Given the description of an element on the screen output the (x, y) to click on. 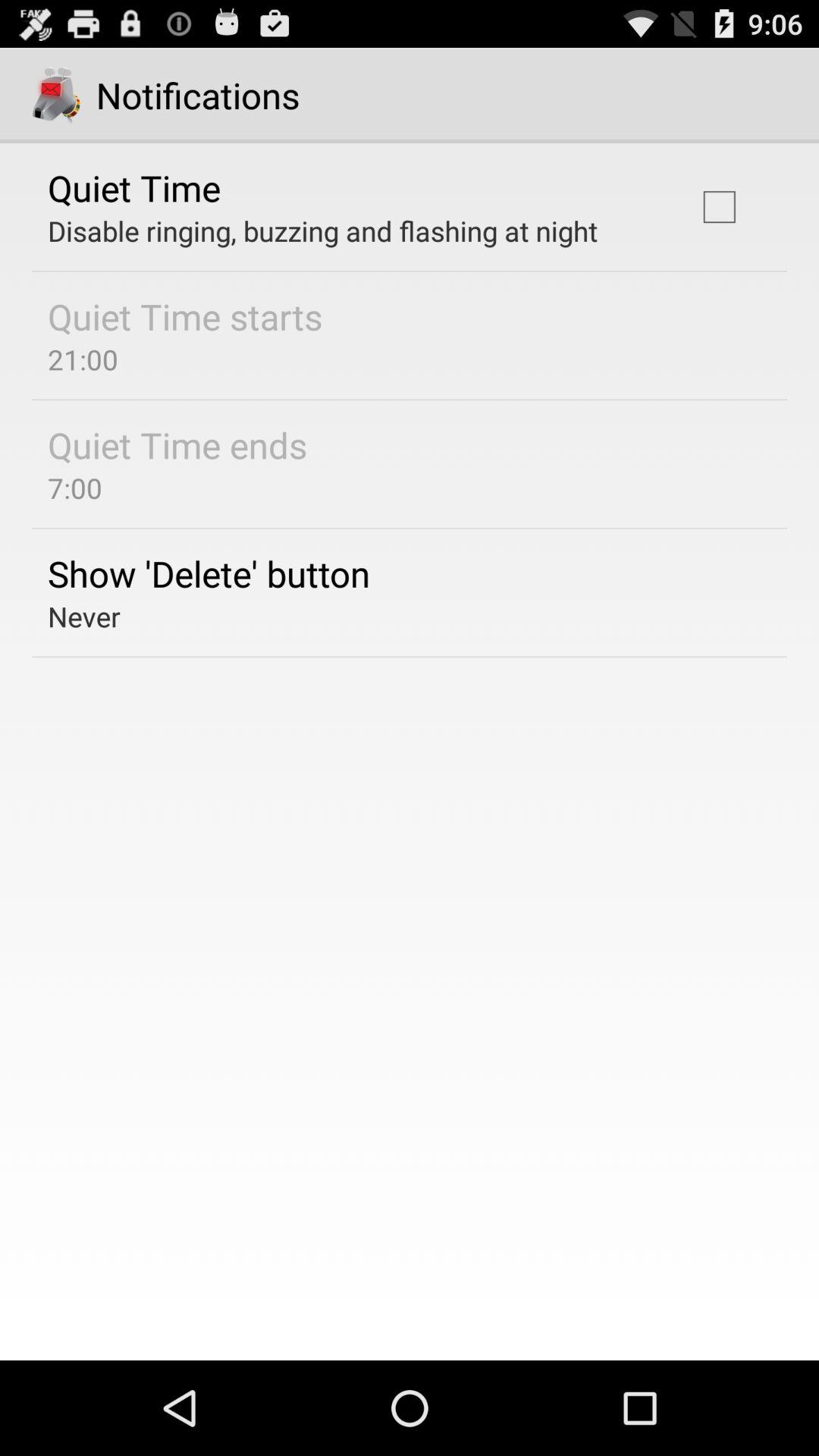
select the icon to the right of the disable ringing buzzing item (719, 206)
